Given the description of an element on the screen output the (x, y) to click on. 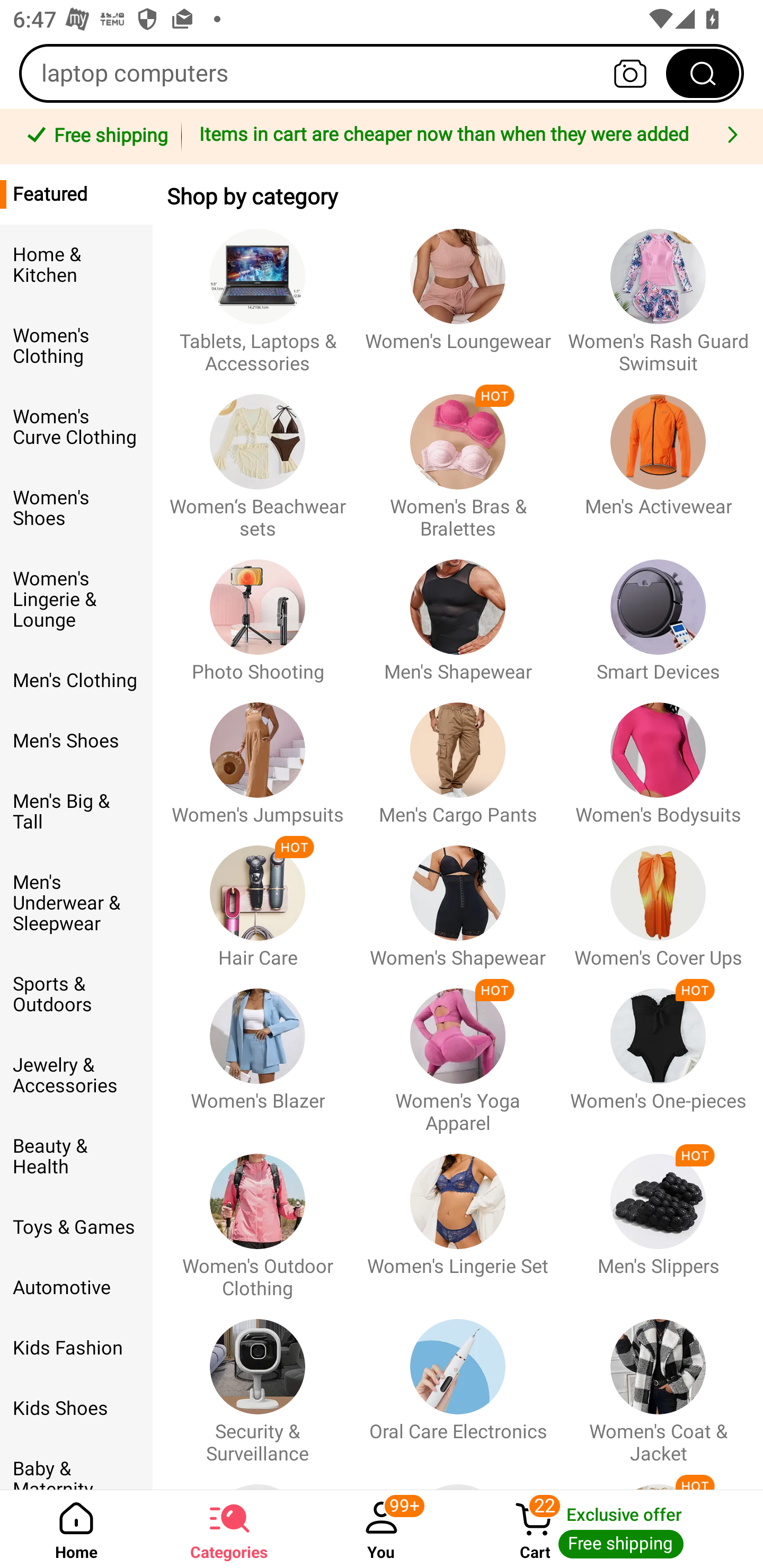
laptop computers (381, 73)
 Free shipping (93, 136)
Featured (76, 194)
Tablets, Laptops & Accessories (257, 292)
Women's Loungewear (457, 292)
Women's Rash Guard Swimsuit (657, 292)
Home & Kitchen (76, 264)
Women's Clothing (76, 346)
Women‘s Beachwear sets (257, 457)
Women's Bras & Bralettes (457, 457)
Men's Activewear (657, 457)
Women's Curve Clothing (76, 427)
Women's Shoes (76, 507)
Photo Shooting (257, 611)
Men's Shapewear (457, 611)
Smart Devices (657, 611)
Women's Lingerie & Lounge (76, 599)
Men's Clothing (76, 680)
Women's Jumpsuits (257, 754)
Men's Cargo Pants (457, 754)
Women's Bodysuits (657, 754)
Men's Shoes (76, 740)
Men's Big & Tall (76, 811)
Hair Care (257, 897)
Women's Shapewear (457, 897)
Women's Cover Ups (657, 897)
Men's Underwear & Sleepwear (76, 902)
Sports & Outdoors (76, 993)
Women's Blazer (257, 1052)
Women's Yoga Apparel (457, 1052)
Women's One-pieces (657, 1052)
Jewelry & Accessories (76, 1075)
Beauty & Health (76, 1156)
Women's Outdoor Clothing (257, 1217)
Women's Lingerie Set (457, 1217)
Men's Slippers (657, 1217)
Toys & Games (76, 1227)
Automotive (76, 1287)
Security & Surveillance (257, 1381)
Oral Care Electronics (457, 1381)
Women's Coat & Jacket (657, 1381)
Kids Fashion (76, 1348)
Kids Shoes (76, 1408)
Baby & Maternity (76, 1464)
Home (76, 1528)
Categories (228, 1528)
You ‎99+‎ You (381, 1528)
Cart 22 Cart Exclusive offer (610, 1528)
